Given the description of an element on the screen output the (x, y) to click on. 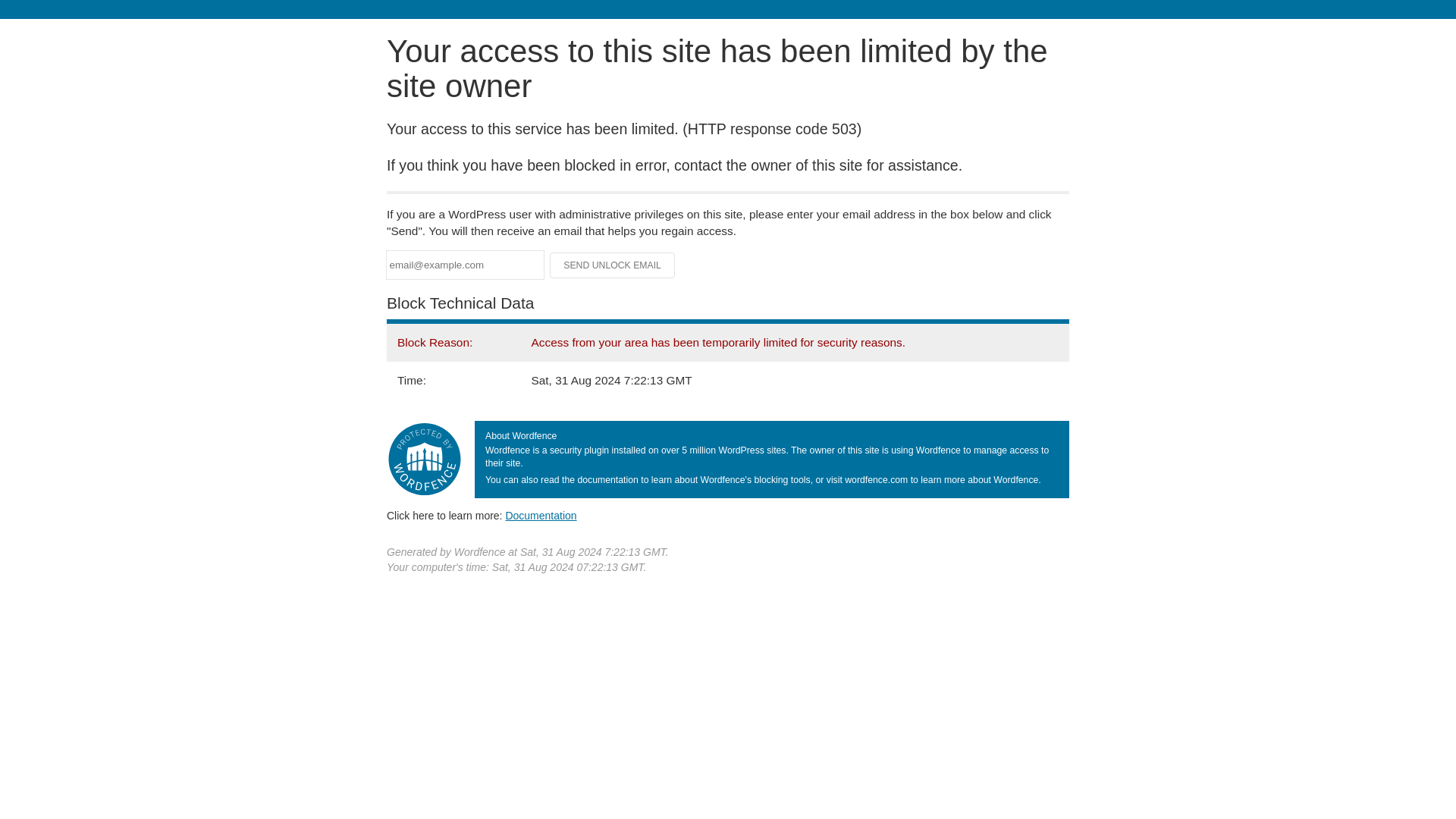
Send Unlock Email (612, 265)
Documentation (540, 515)
Send Unlock Email (612, 265)
